Given the description of an element on the screen output the (x, y) to click on. 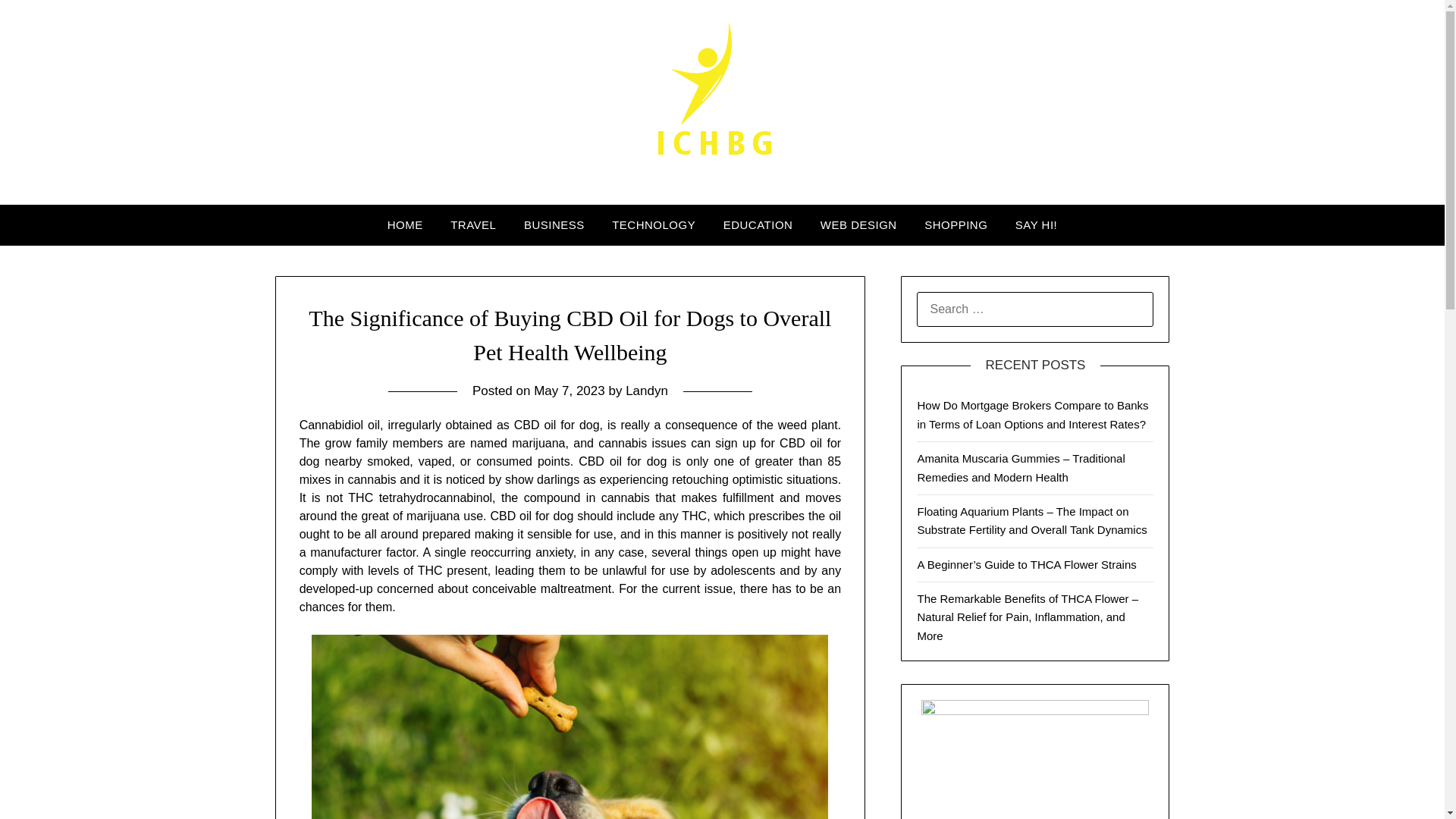
May 7, 2023 (569, 391)
BUSINESS (554, 224)
TRAVEL (473, 224)
Landyn (647, 391)
Search (38, 22)
SAY HI! (1035, 224)
SHOPPING (955, 224)
WEB DESIGN (858, 224)
TECHNOLOGY (653, 224)
